Given the description of an element on the screen output the (x, y) to click on. 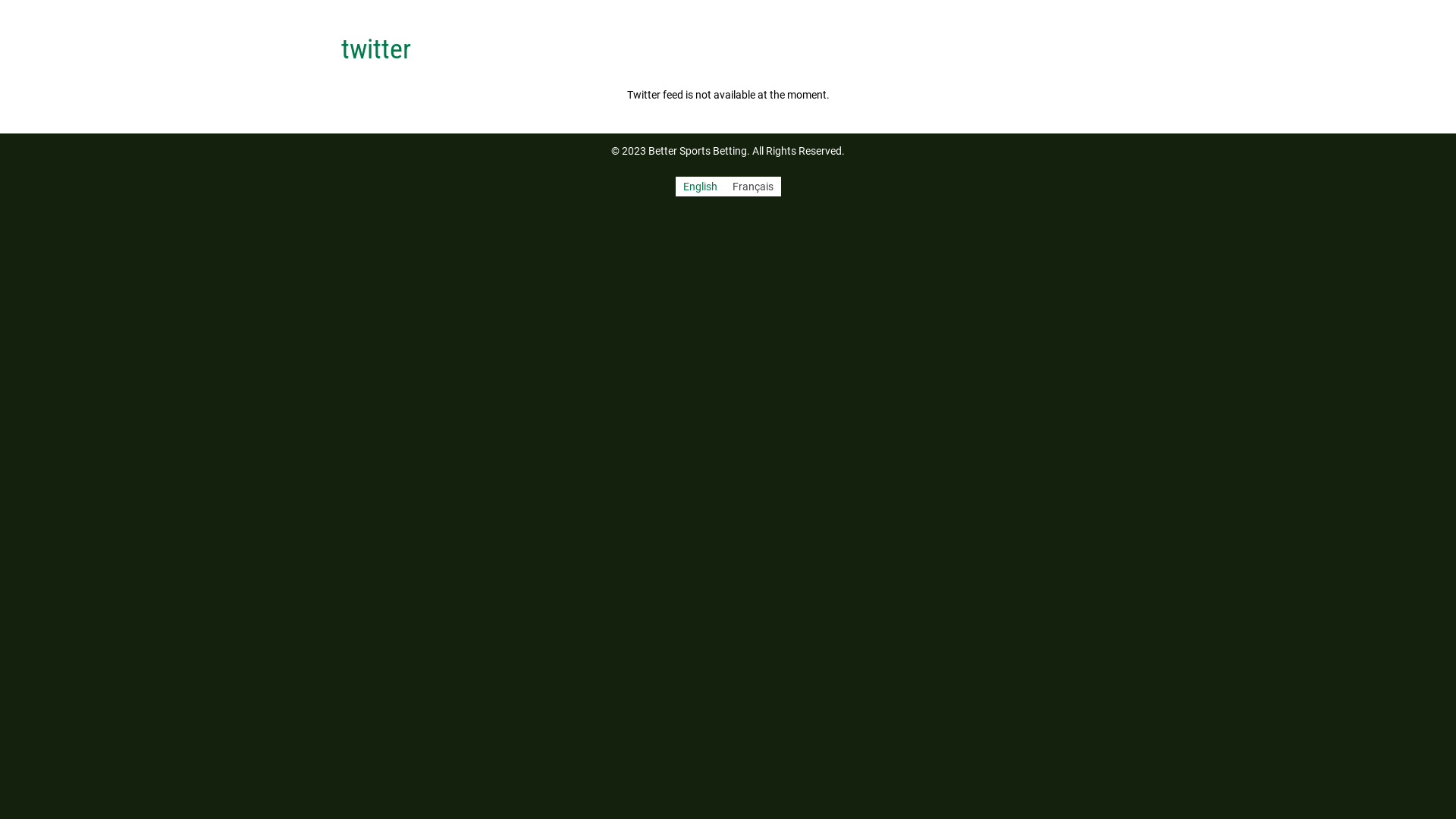
English Element type: text (699, 186)
